Given the description of an element on the screen output the (x, y) to click on. 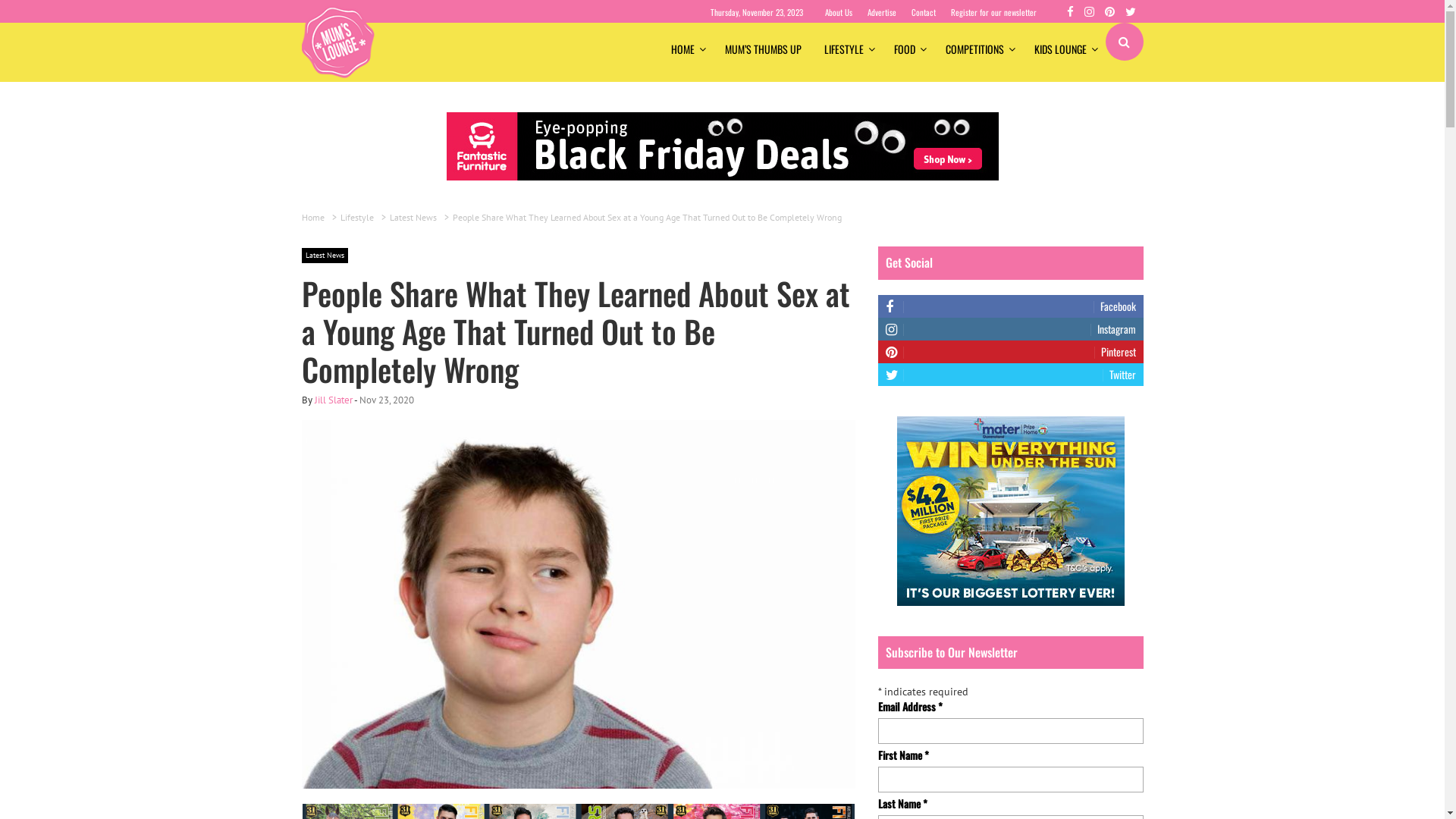
KIDS LOUNGE Element type: text (1063, 48)
Home Element type: text (314, 216)
COMPETITIONS Element type: text (978, 48)
3rd party ad content Element type: hover (721, 146)
Lifestyle Element type: text (357, 216)
HOME Element type: text (686, 48)
LIFESTYLE Element type: text (847, 48)
Instagram Element type: text (1010, 328)
About Us Element type: text (838, 11)
Latest News Element type: text (324, 255)
Jill Slater Element type: text (332, 399)
Pinterest Element type: text (1010, 351)
3rd party ad content Element type: hover (1009, 510)
Latest News Element type: text (414, 216)
FOOD Element type: text (908, 48)
Contact Element type: text (923, 11)
Facebook Element type: text (1010, 305)
Advertise Element type: text (881, 11)
Register for our newsletter Element type: text (993, 11)
Twitter Element type: text (1010, 374)
